Given the description of an element on the screen output the (x, y) to click on. 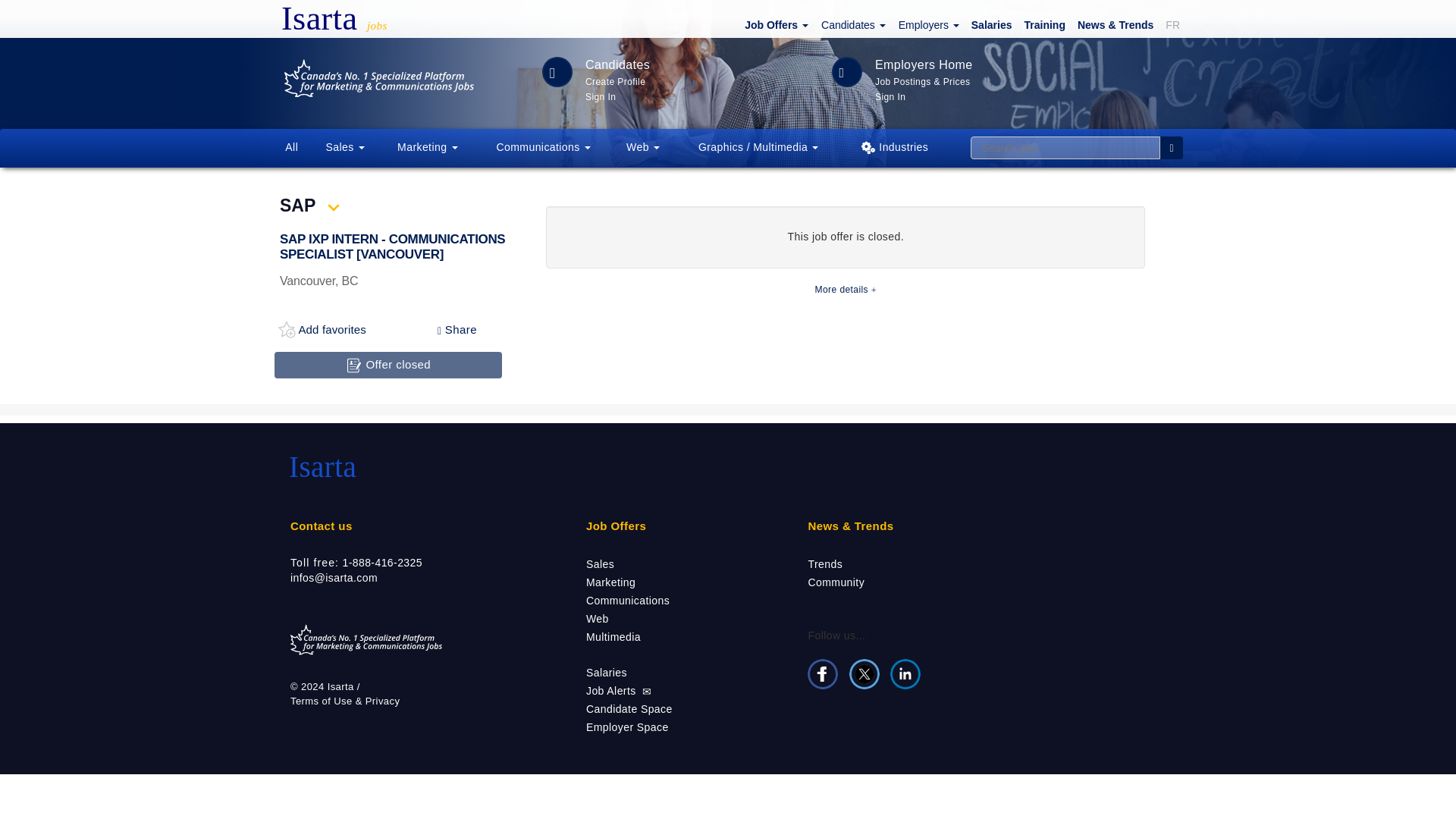
Training (1041, 24)
Sign In (600, 95)
All (292, 147)
Candidates (616, 64)
Candidates (851, 24)
Apply (354, 365)
Job Offers (774, 24)
Create Profile (614, 80)
Salaries (988, 24)
Sales (345, 147)
Employers Home (923, 64)
Employers (926, 24)
Isarta jobs (370, 18)
Sign In (889, 95)
